Given the description of an element on the screen output the (x, y) to click on. 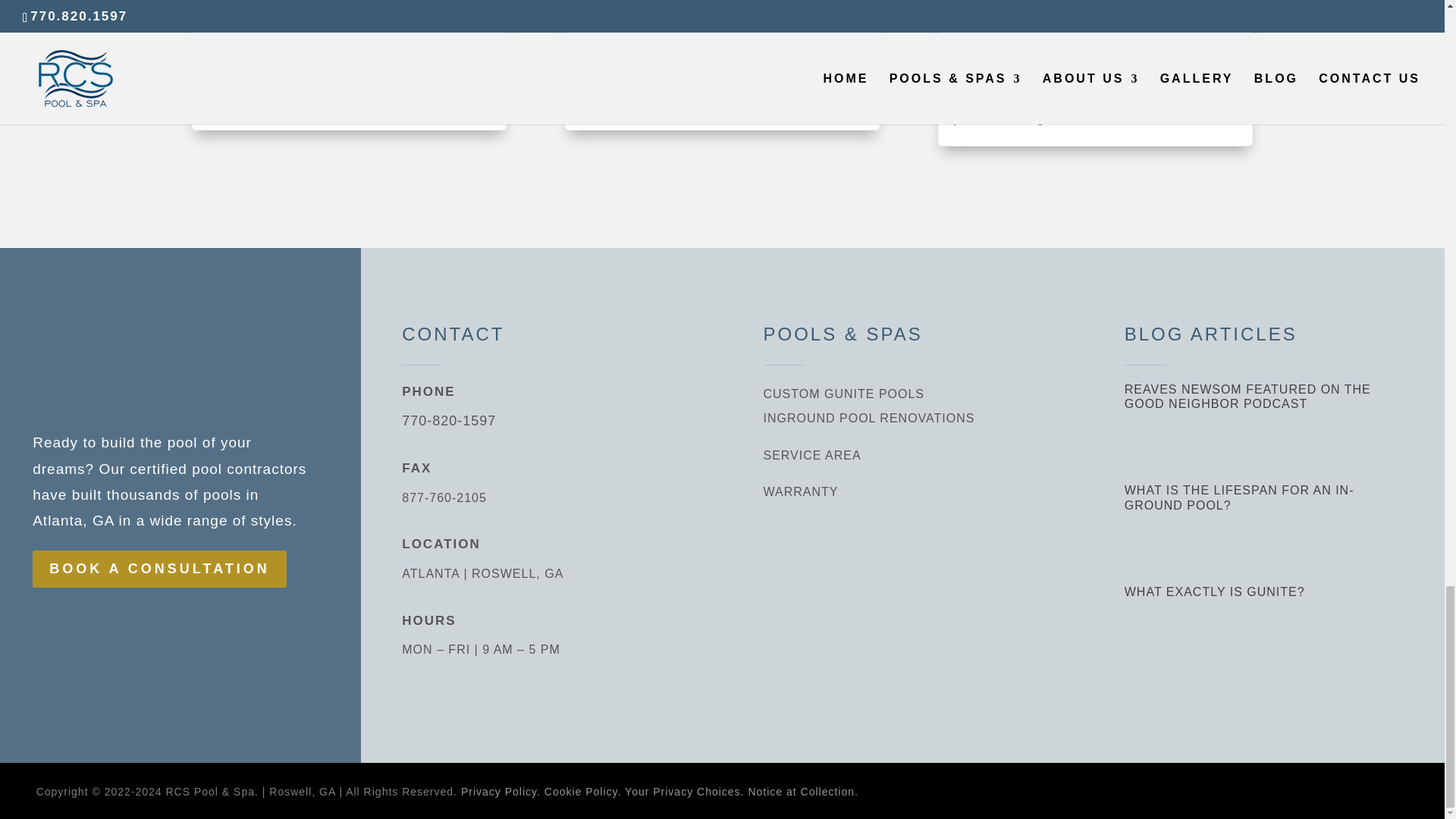
9 SURPRISING THINGS YOU CAN EXPECT DURING POOL CONSTRUCTION (1092, 25)
Privacy Policy (500, 791)
BOOK A CONSULTATION (159, 569)
WHAT IS THE LIFESPAN FOR AN IN-GROUND POOL? (341, 17)
Cookie Policy (582, 791)
MATERIAL TRENDS OF OUTDOOR POOLS AND LIVING (720, 17)
